Given the description of an element on the screen output the (x, y) to click on. 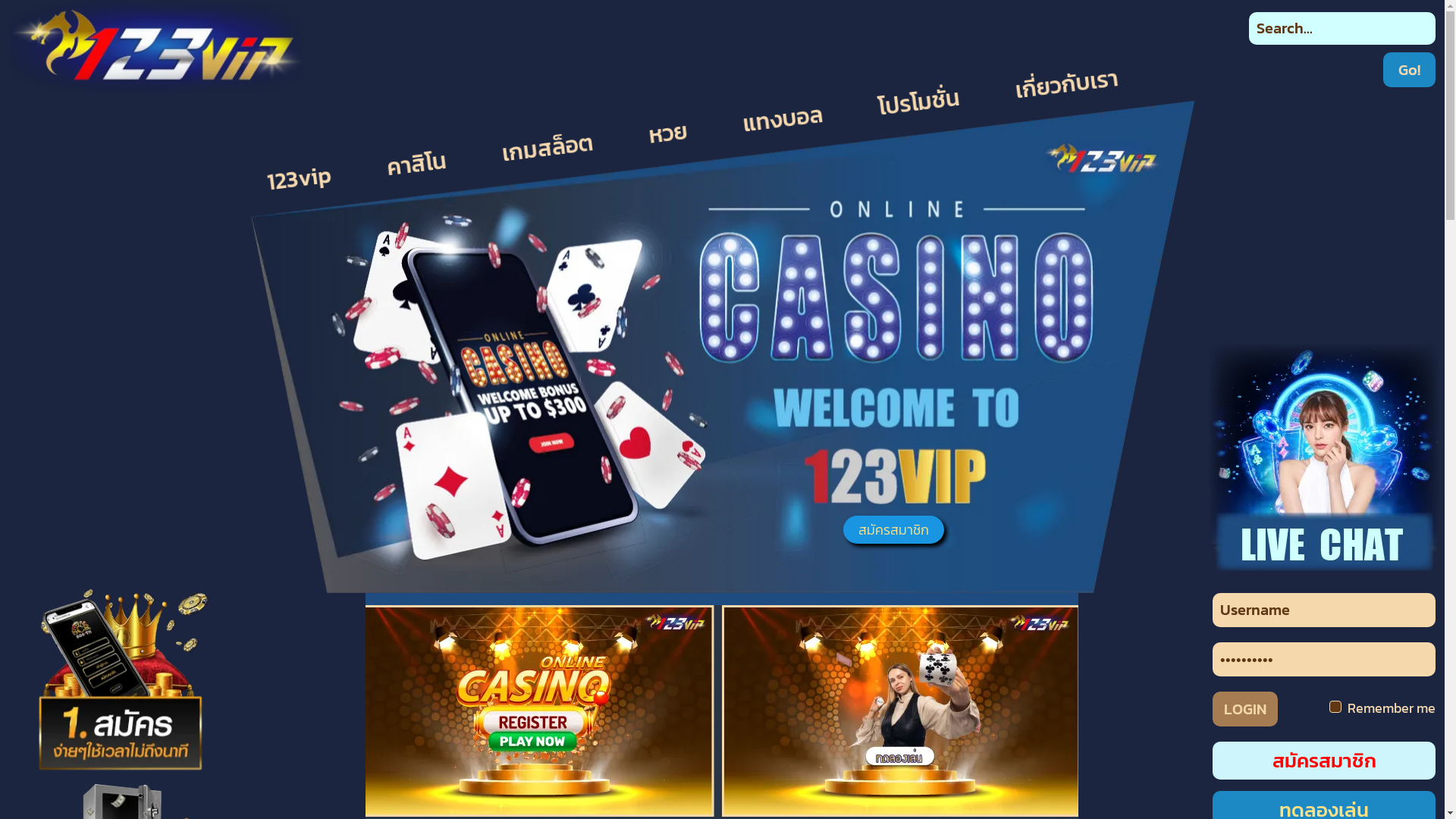
Go! Element type: text (1409, 69)
123vip Element type: text (296, 173)
LOGIN Element type: text (1244, 708)
